Given the description of an element on the screen output the (x, y) to click on. 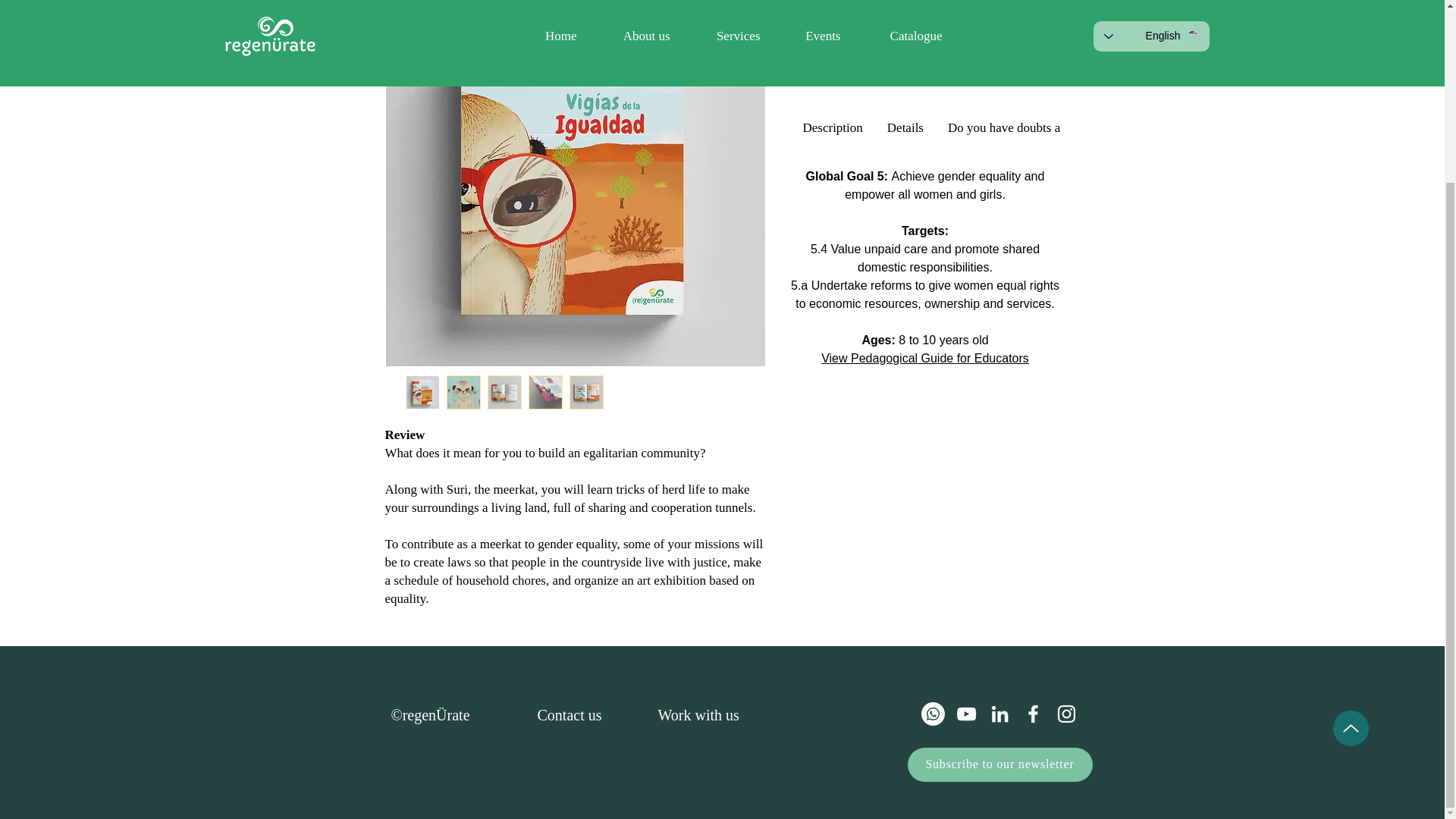
Use right and left arrows to navigate between tabs (1067, 128)
Use right and left arrows to navigate between tabs (832, 128)
Contact us (569, 714)
Work with us (698, 714)
Use right and left arrows to navigate between tabs (905, 128)
Subscribe to our newsletter (999, 764)
View Pedagogical Guide for Educators (925, 358)
Select (924, 49)
